Given the description of an element on the screen output the (x, y) to click on. 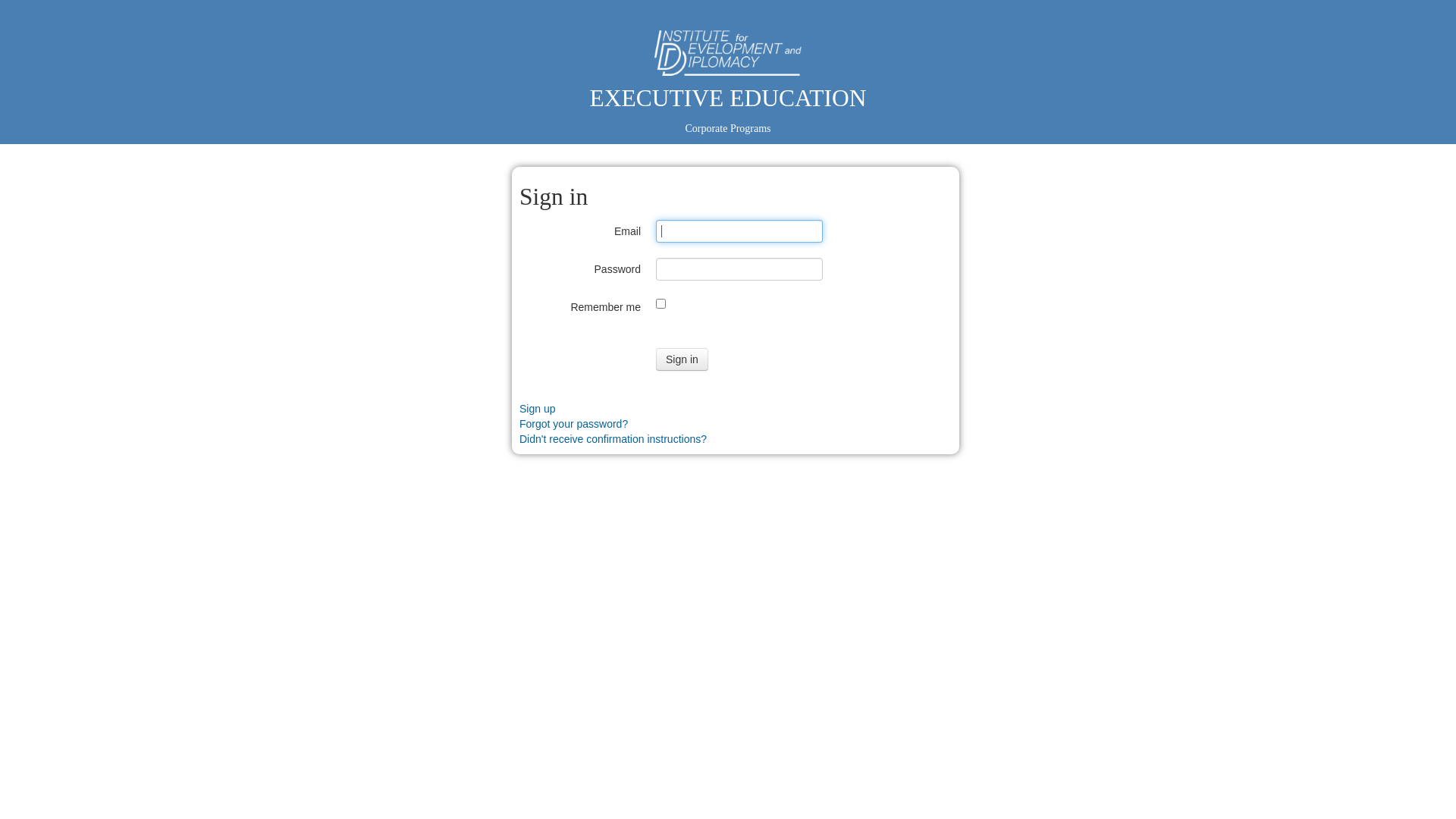
Forgot your password? Element type: text (573, 423)
Sign in Element type: text (681, 359)
Sign up Element type: text (537, 408)
Didn't receive confirmation instructions? Element type: text (612, 439)
